Given the description of an element on the screen output the (x, y) to click on. 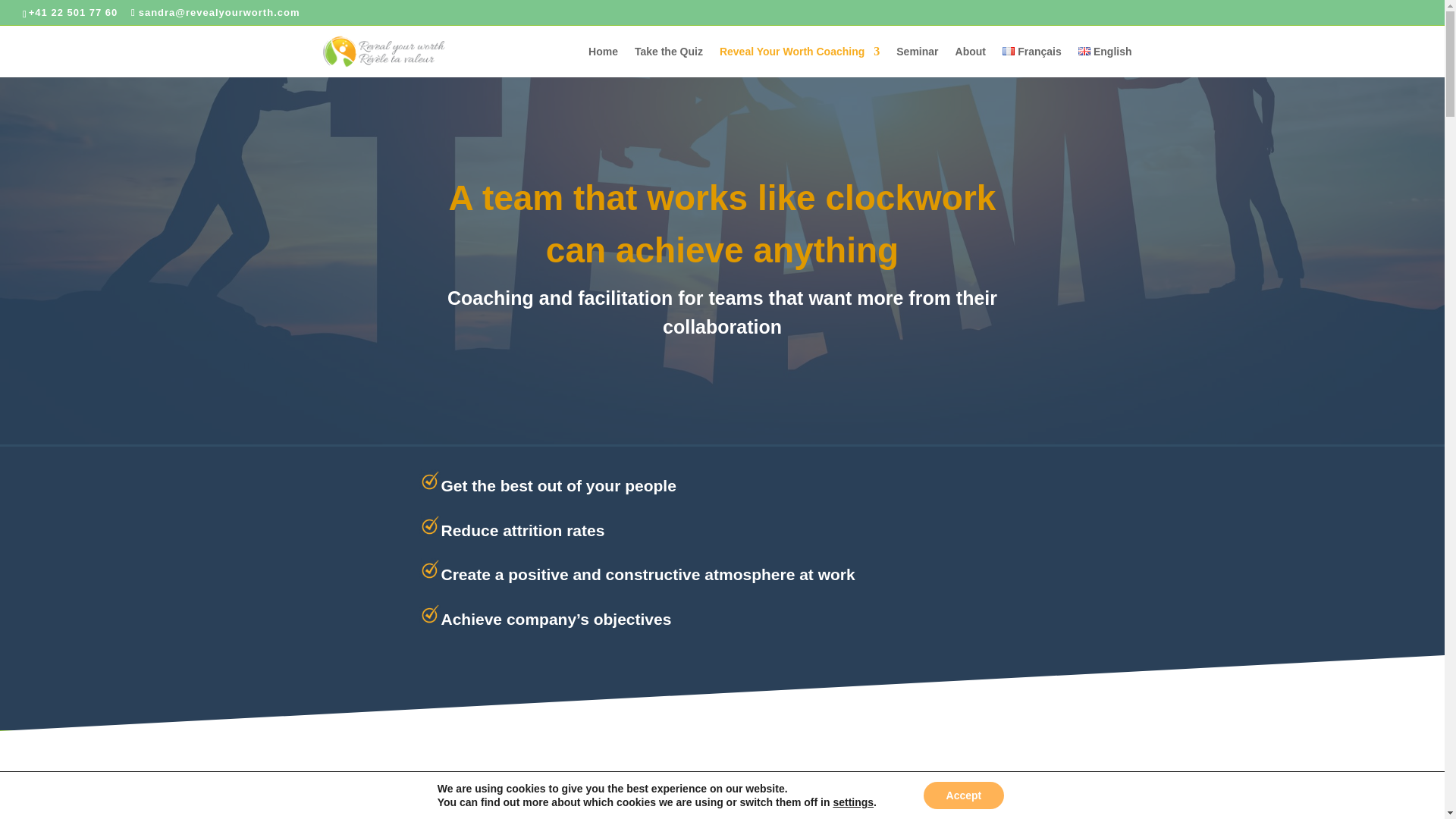
Seminar (916, 60)
About (970, 60)
Take the Quiz (668, 60)
Reveal Your Worth Coaching (799, 60)
English (1105, 60)
Home (602, 60)
